Given the description of an element on the screen output the (x, y) to click on. 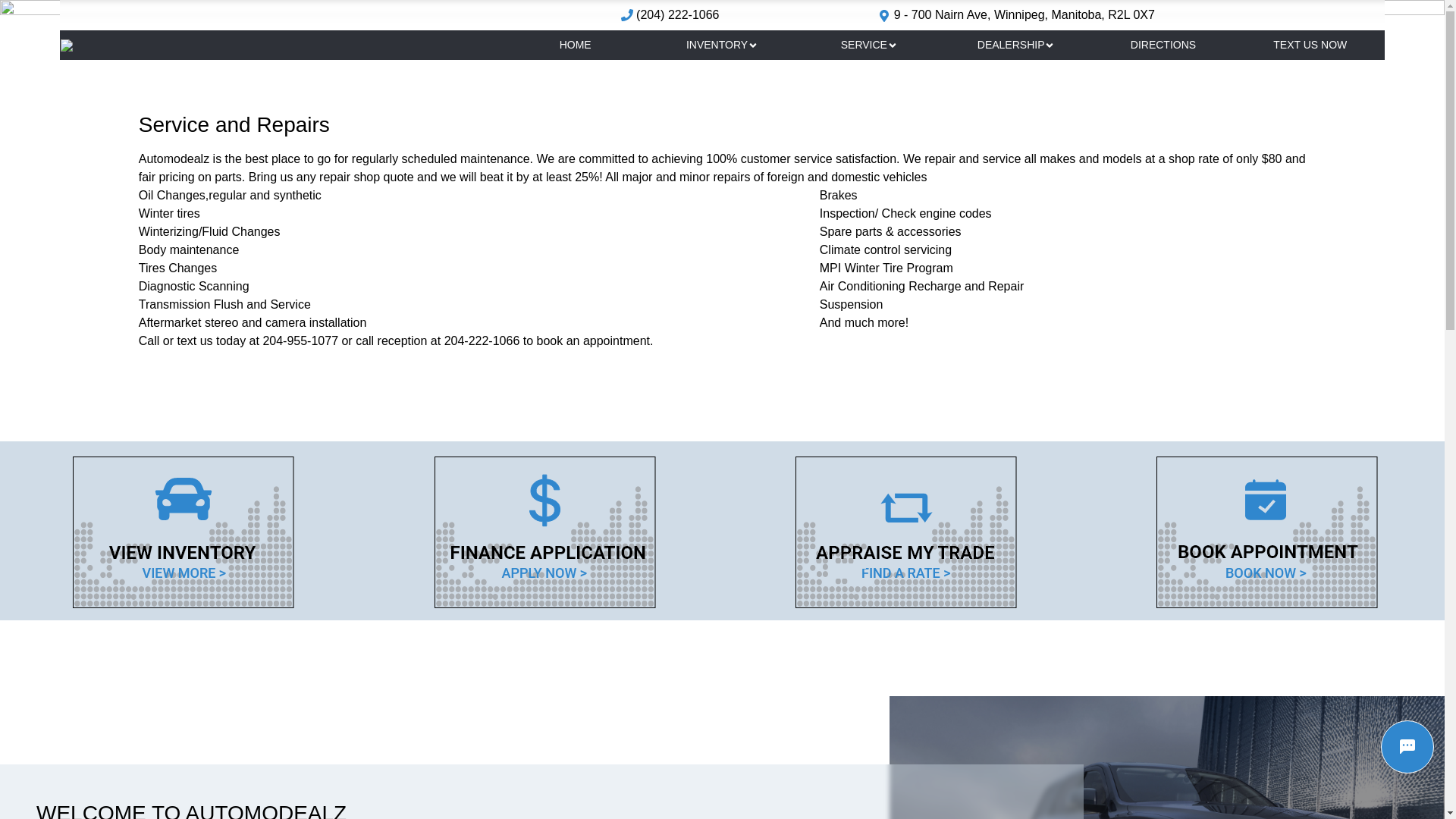
(204) 222-1066 Element type: text (677, 15)
HOME Element type: text (575, 45)
INVENTORY Element type: text (722, 45)
SERVICE Element type: text (868, 45)
TEXT US NOW Element type: text (1309, 45)
DIRECTIONS Element type: text (1162, 45)
DEALERSHIP Element type: text (1015, 45)
Online Chat Element type: hover (1407, 746)
